Given the description of an element on the screen output the (x, y) to click on. 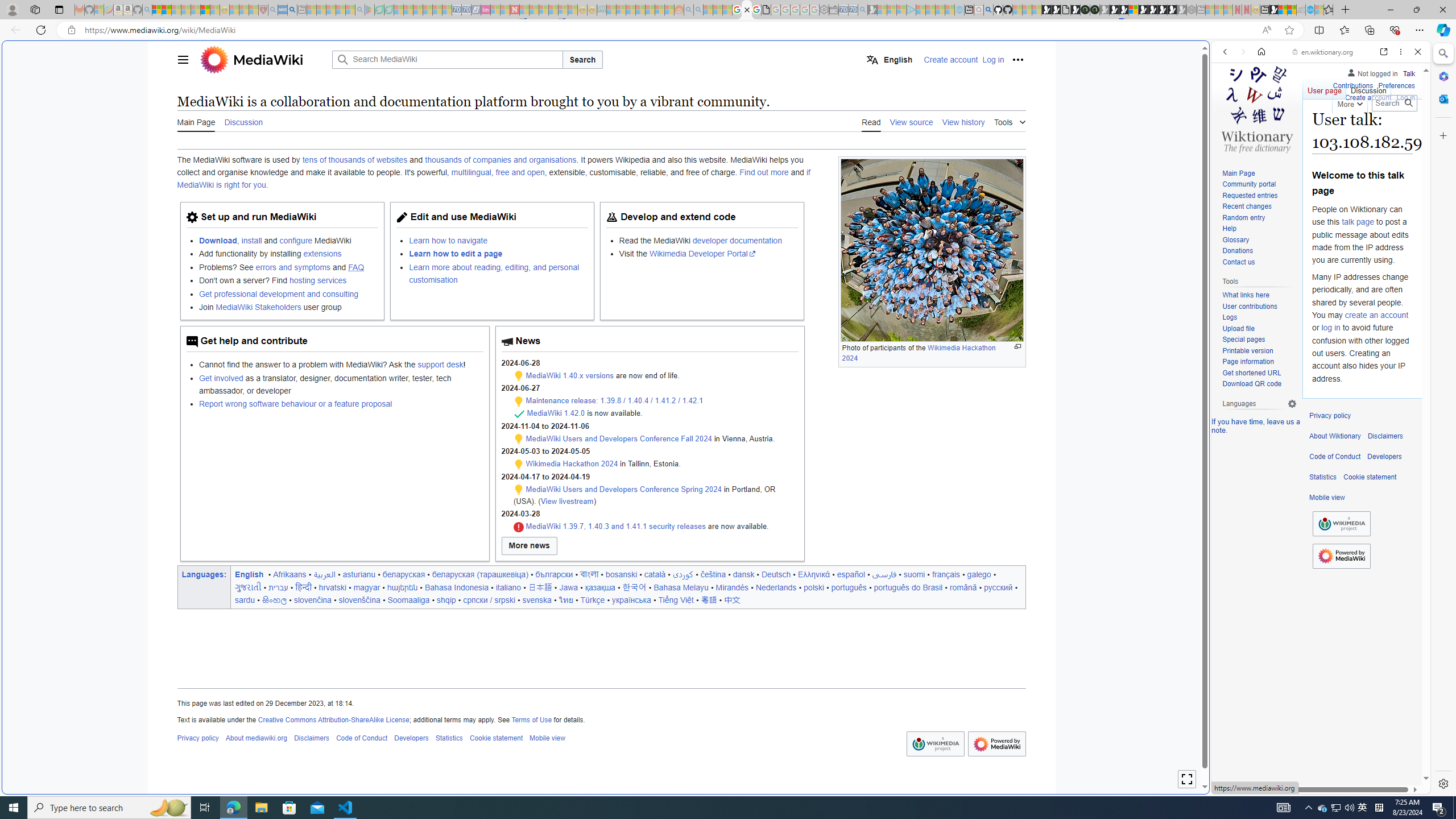
MediaWiki 1.40.x versions (568, 375)
Cookie statement (1369, 477)
Talk (1408, 73)
galego (978, 574)
English (248, 574)
Upload file (1259, 328)
